Given the description of an element on the screen output the (x, y) to click on. 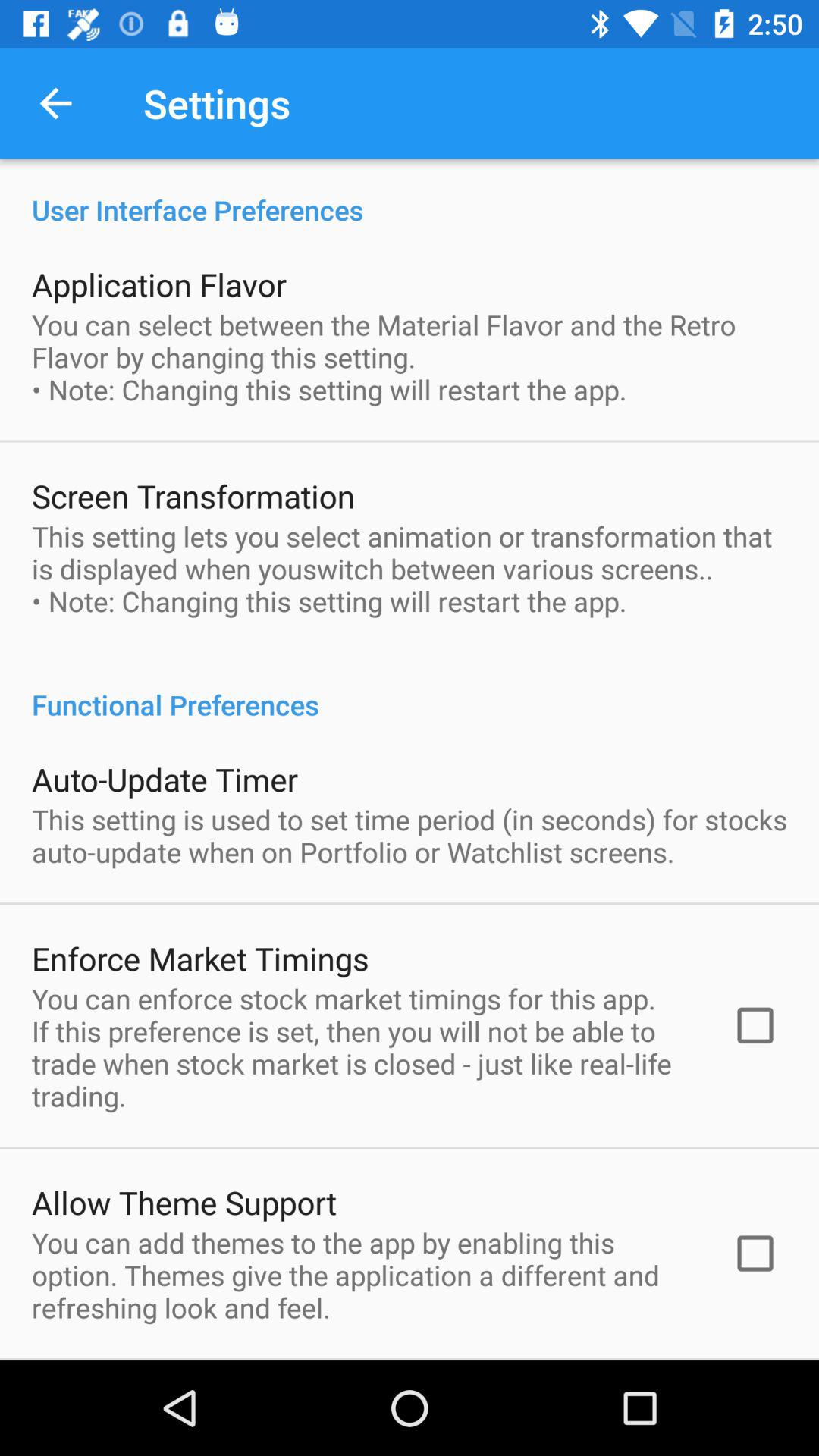
click allow theme support icon (183, 1201)
